Given the description of an element on the screen output the (x, y) to click on. 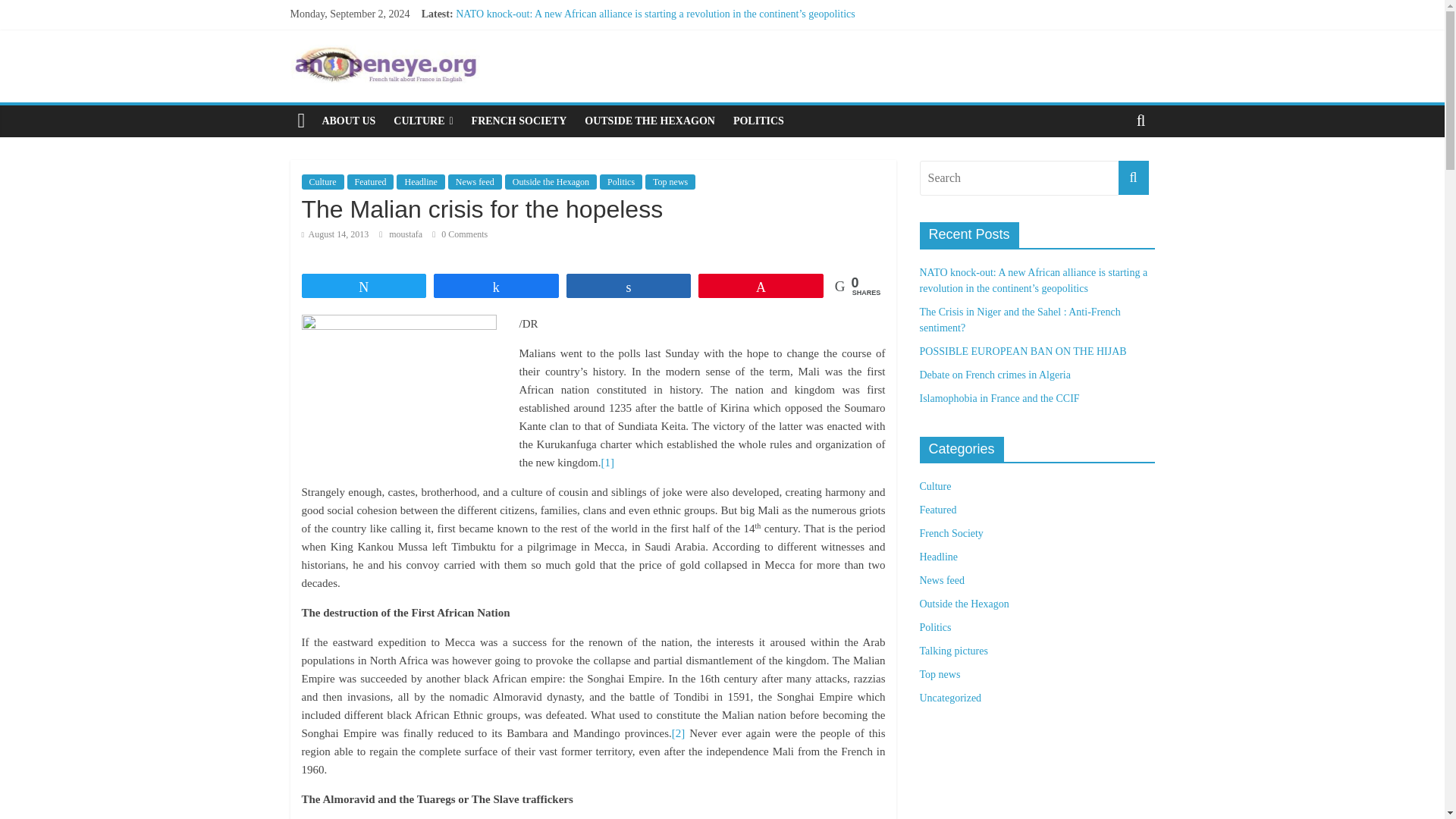
POSSIBLE EUROPEAN BAN ON THE HIJAB (558, 48)
OUTSIDE THE HEXAGON (649, 121)
The Crisis in Niger and the Sahel : Anti-French sentiment? (579, 30)
August 14, 2013 (335, 234)
0 Comments (459, 234)
Featured (370, 181)
Outside the Hexagon (550, 181)
Headline (420, 181)
POLITICS (758, 121)
Culture (322, 181)
